Given the description of an element on the screen output the (x, y) to click on. 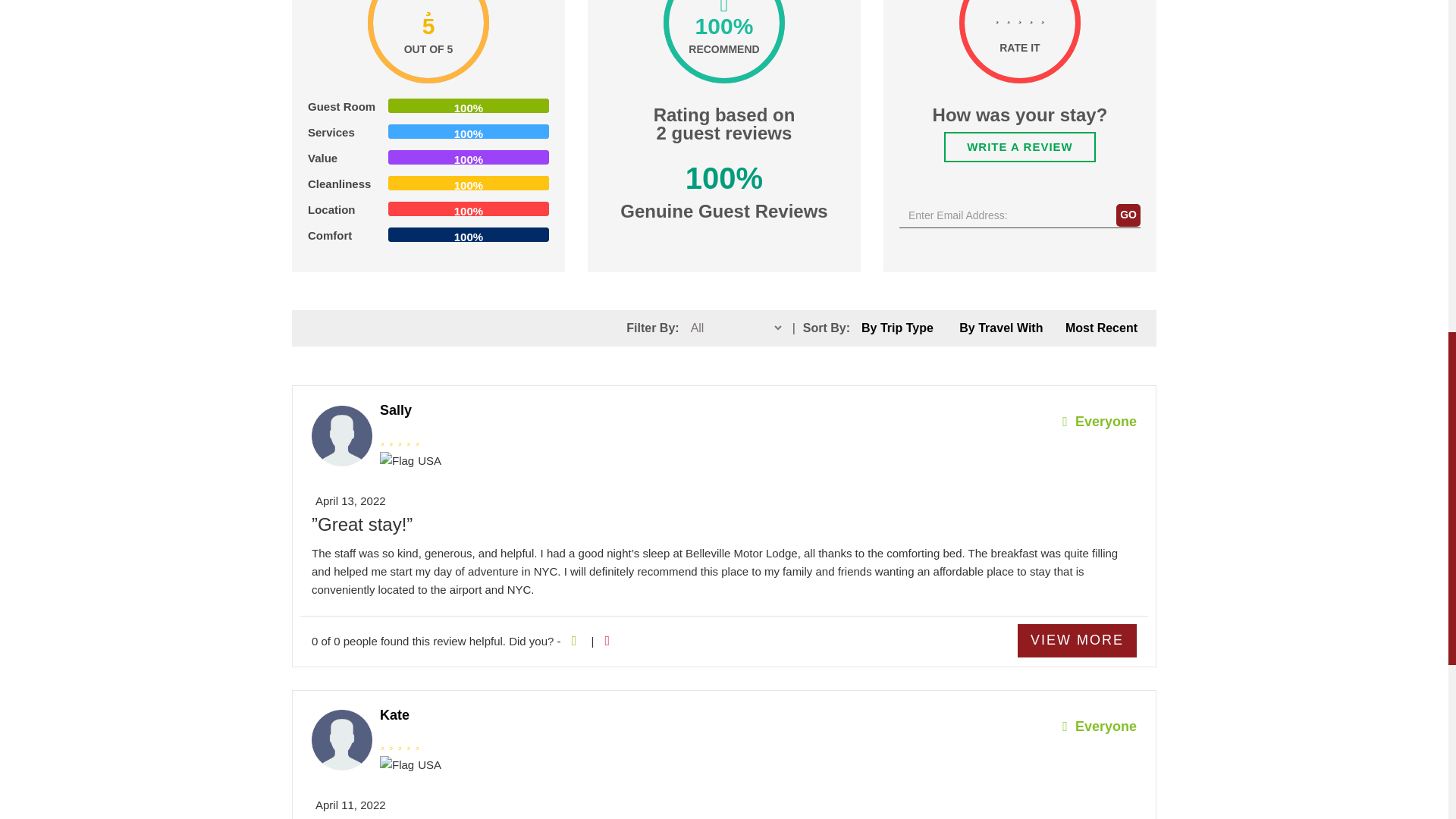
GO (1128, 214)
WRITE A REVIEW (1019, 146)
